Given the description of an element on the screen output the (x, y) to click on. 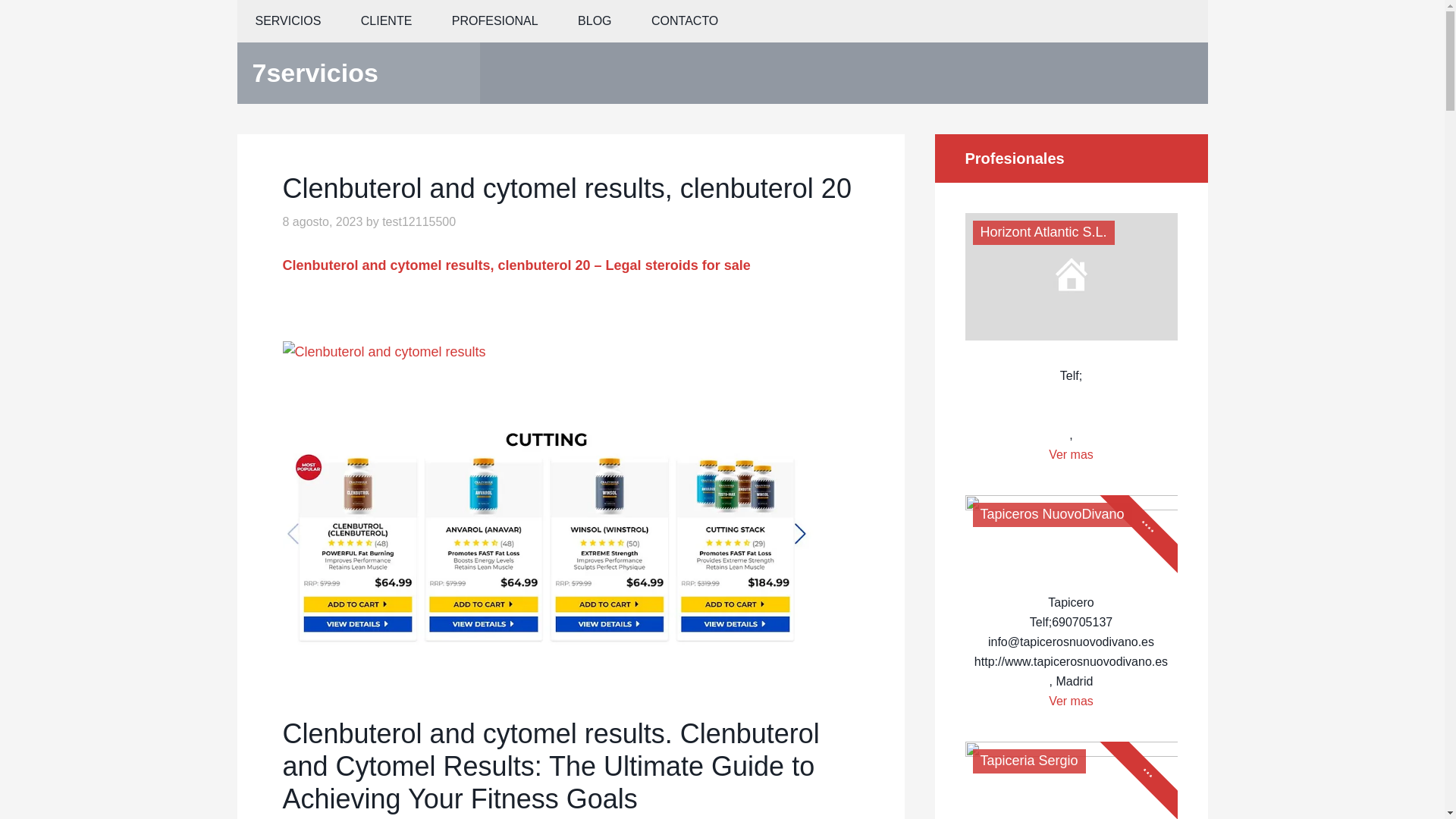
clenbuterol and cytomel results (383, 352)
SERVICIOS (287, 21)
and cytomel results clenbuterol (547, 536)
